Given the description of an element on the screen output the (x, y) to click on. 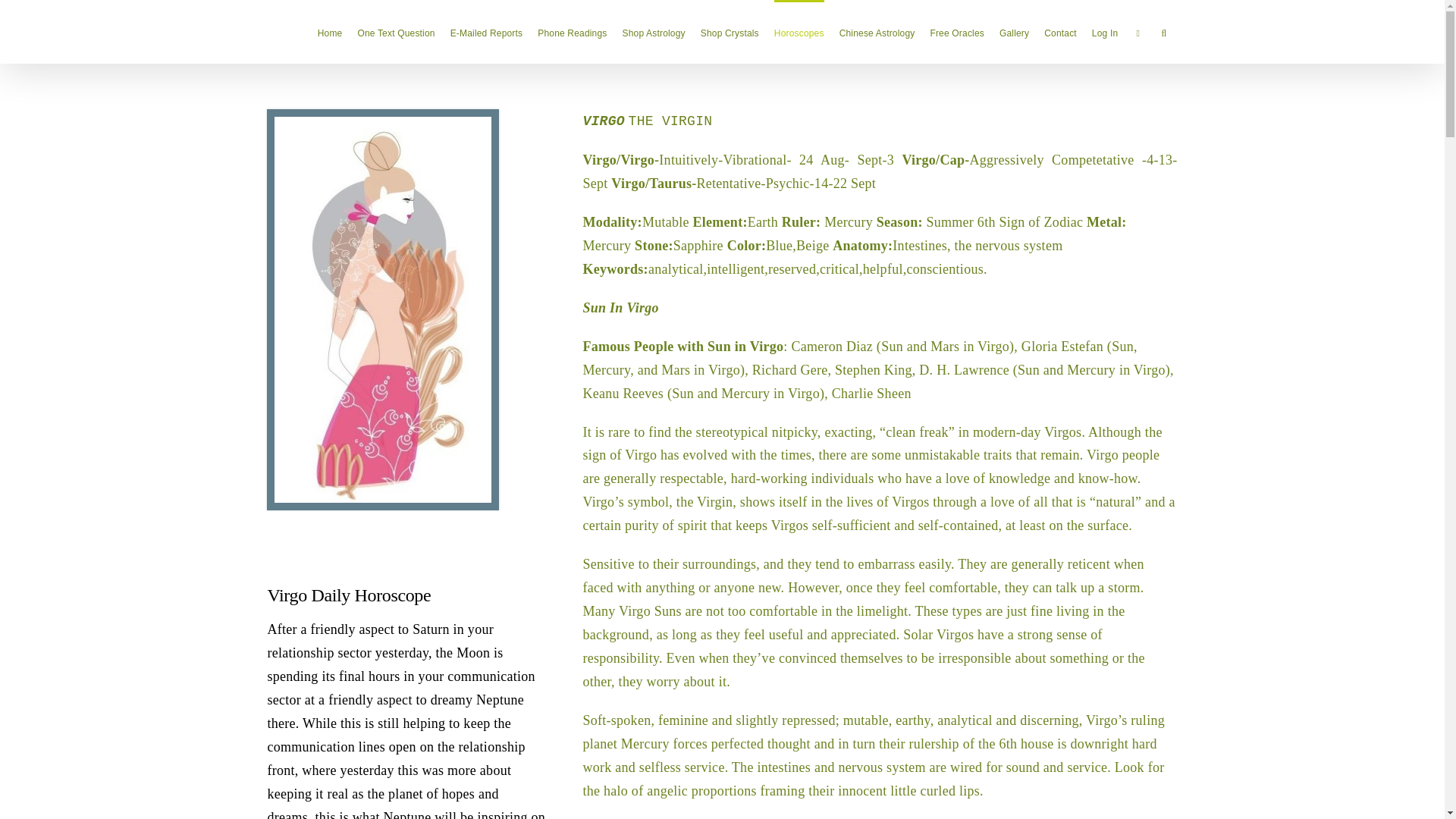
One Text Question (394, 31)
Chinese Astrology (877, 31)
Shop Astrology (654, 31)
Shop Crystals (729, 31)
Phone Readings (572, 31)
E-Mailed Reports (485, 31)
